Given the description of an element on the screen output the (x, y) to click on. 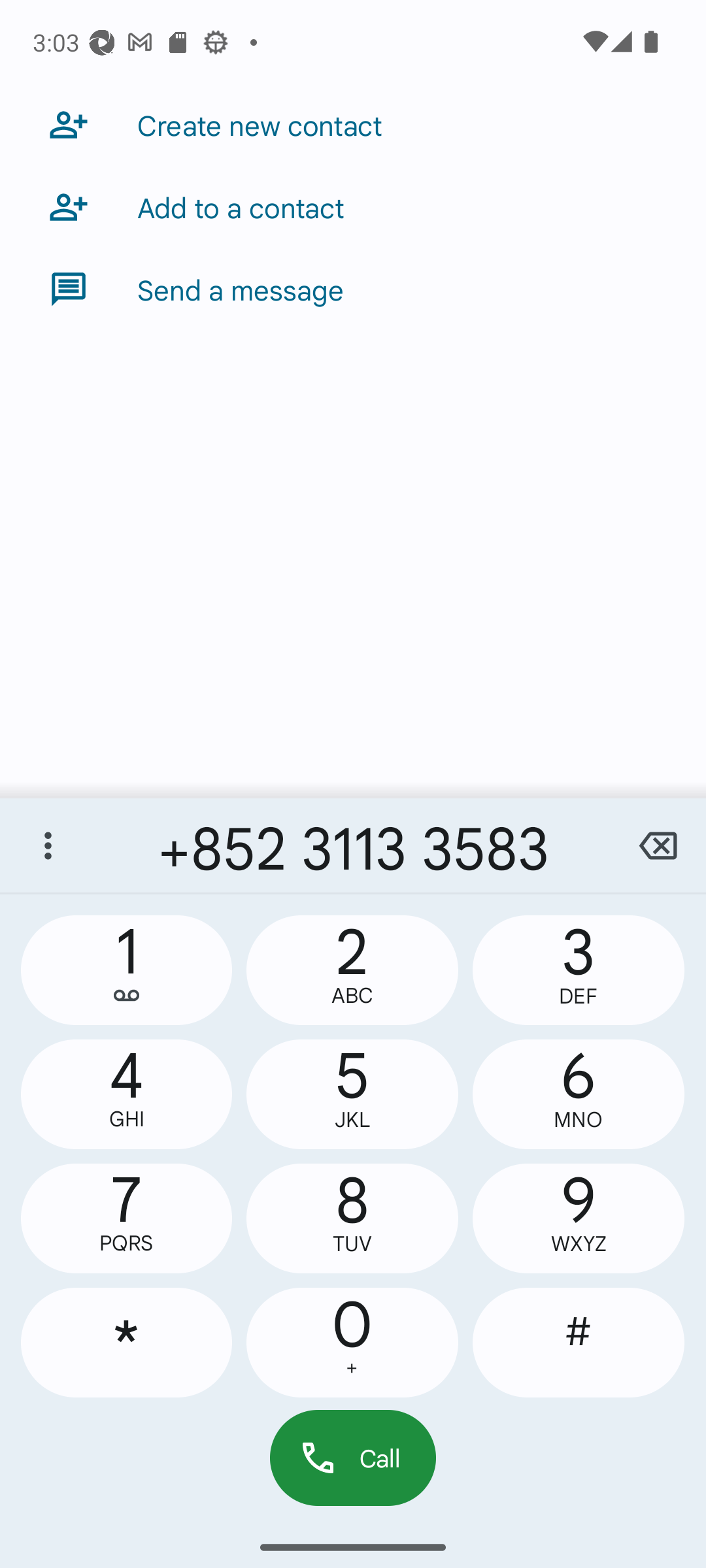
Create new contact (353, 124)
Add to a contact (353, 206)
Send a message (353, 288)
More options (48, 845)
+852 3113 3583 (352, 845)
backspace (657, 845)
1, 1 (126, 970)
2,ABC 2 ABC (352, 970)
3,DEF 3 DEF (578, 970)
4,GHI 4 GHI (126, 1094)
5,JKL 5 JKL (352, 1094)
6,MNO 6 MNO (578, 1094)
7,PQRS 7 PQRS (126, 1218)
8,TUV 8 TUV (352, 1218)
9,WXYZ 9 WXYZ (578, 1218)
* (126, 1342)
0 0 + (352, 1342)
# (578, 1342)
Call dial (352, 1457)
